Given the description of an element on the screen output the (x, y) to click on. 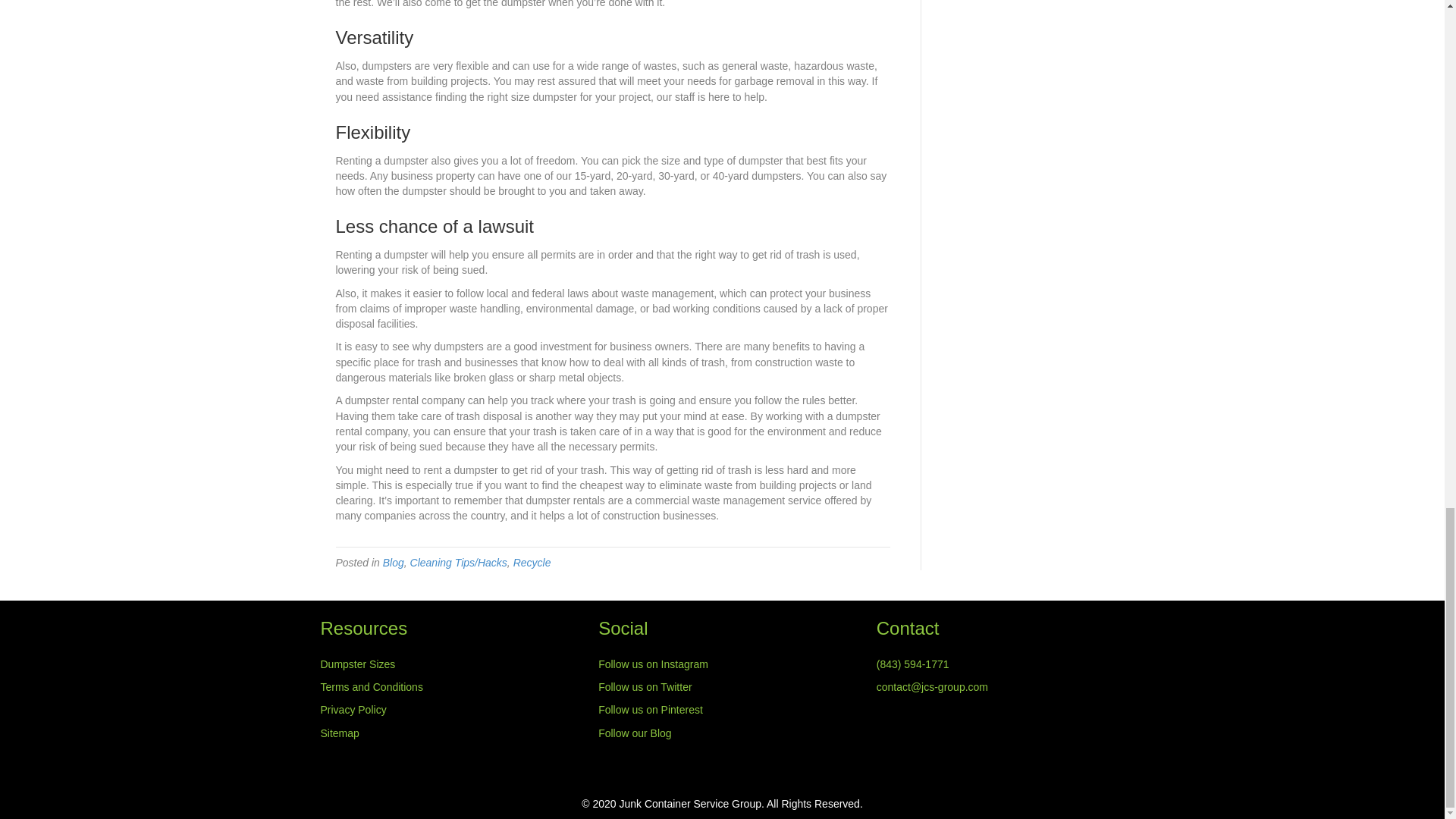
Terms and Conditions (371, 686)
Follow us on Twitter (644, 686)
Follow us on Instagram (652, 664)
Dumpster Sizes (357, 664)
Blog (393, 562)
Privacy Policy (352, 709)
Follow us on Pinterest (650, 709)
Sitemap (339, 733)
Recycle (532, 562)
Follow our Blog (634, 733)
